Given the description of an element on the screen output the (x, y) to click on. 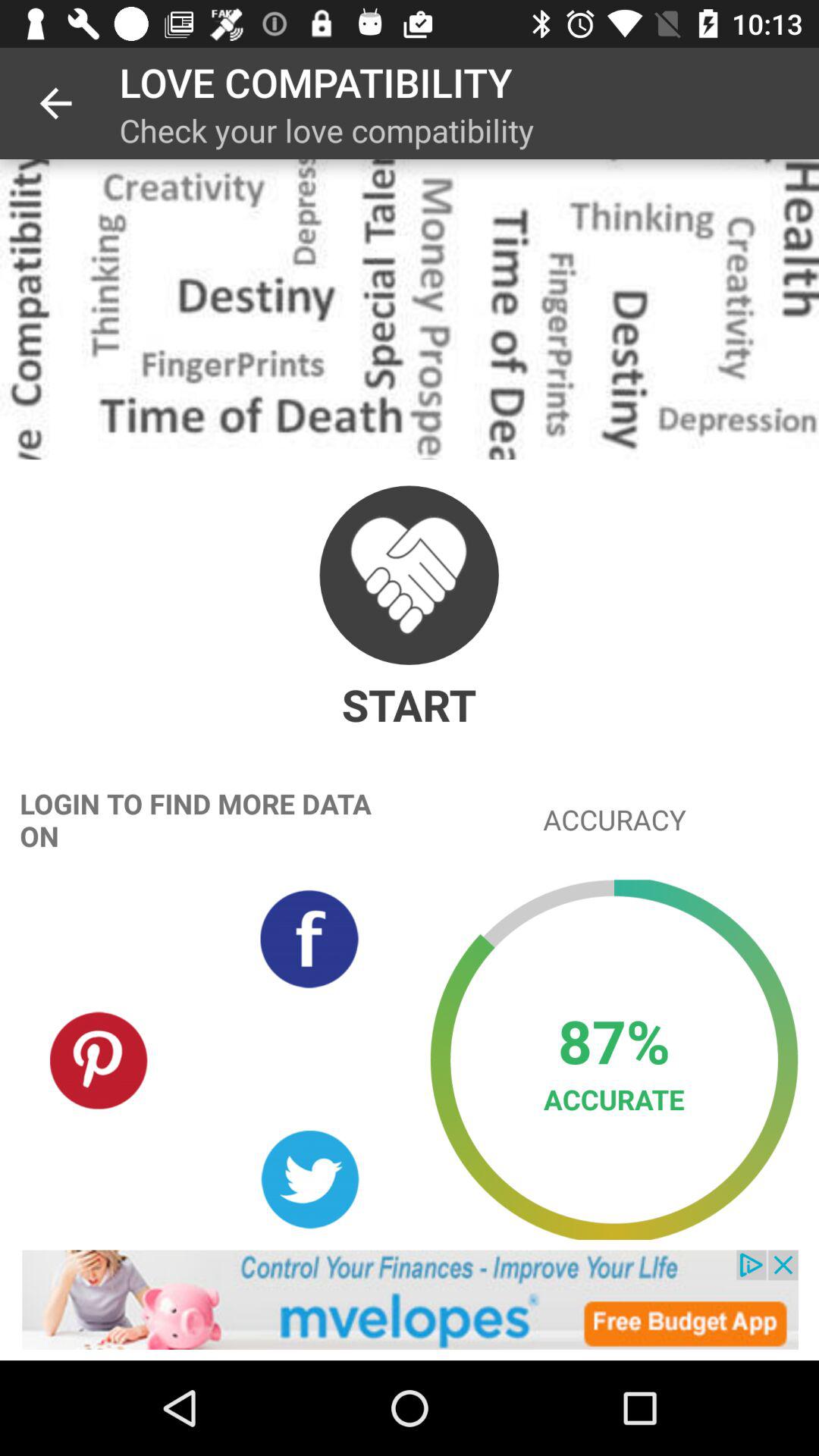
share with twitter (309, 1179)
